Given the description of an element on the screen output the (x, y) to click on. 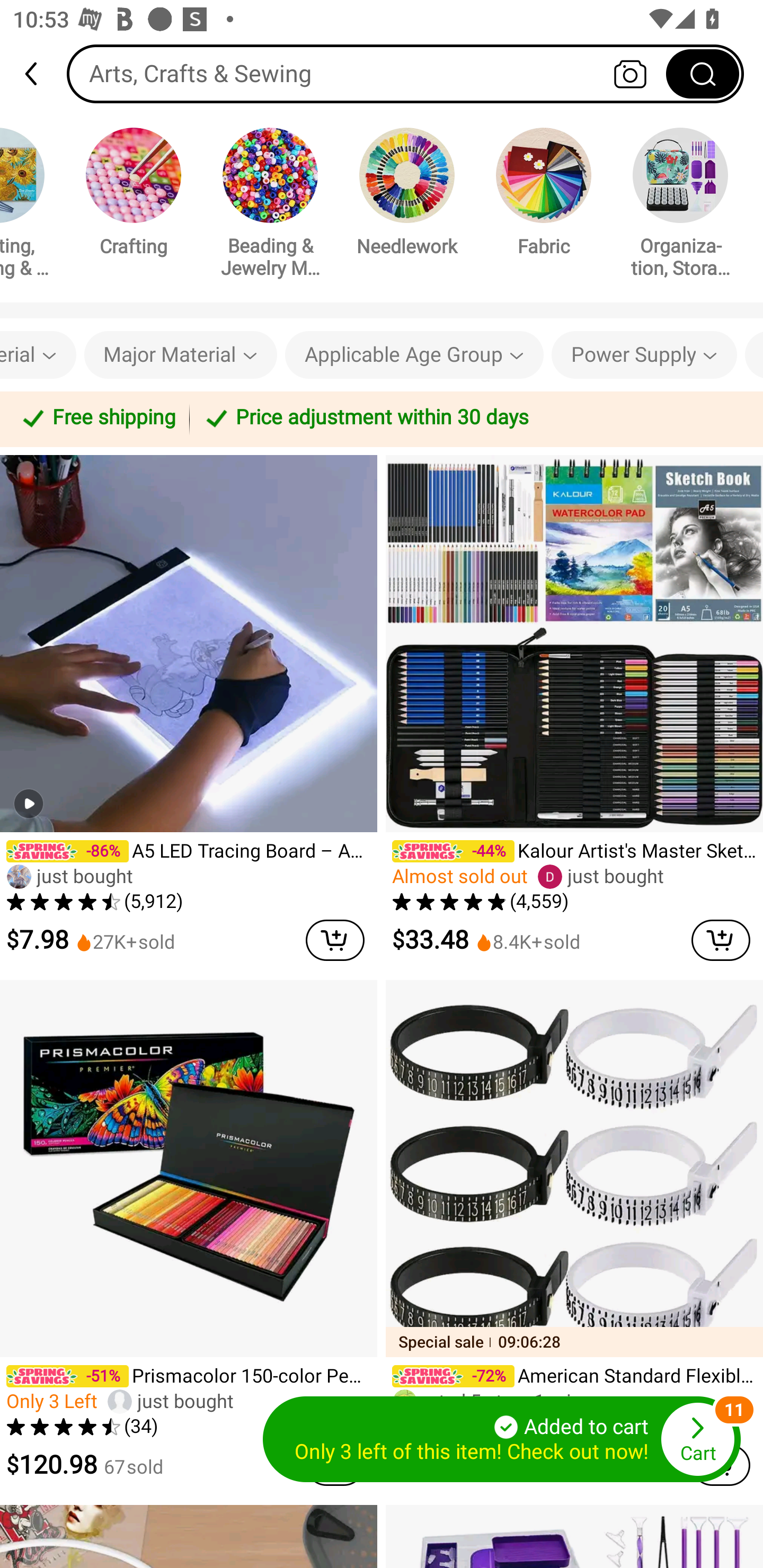
back (39, 73)
Arts, Crafts & Sewing (405, 73)
Crafting (133, 195)
Beading & Jewelry Making (269, 205)
Needlework (406, 195)
Fabric (543, 195)
Organization, Storage & Transport (680, 205)
Major Material (179, 354)
Applicable Age Group (414, 354)
Power Supply (644, 354)
Free shipping (97, 418)
Price adjustment within 30 days (472, 418)
cart delete (334, 939)
cart delete (720, 939)
